Given the description of an element on the screen output the (x, y) to click on. 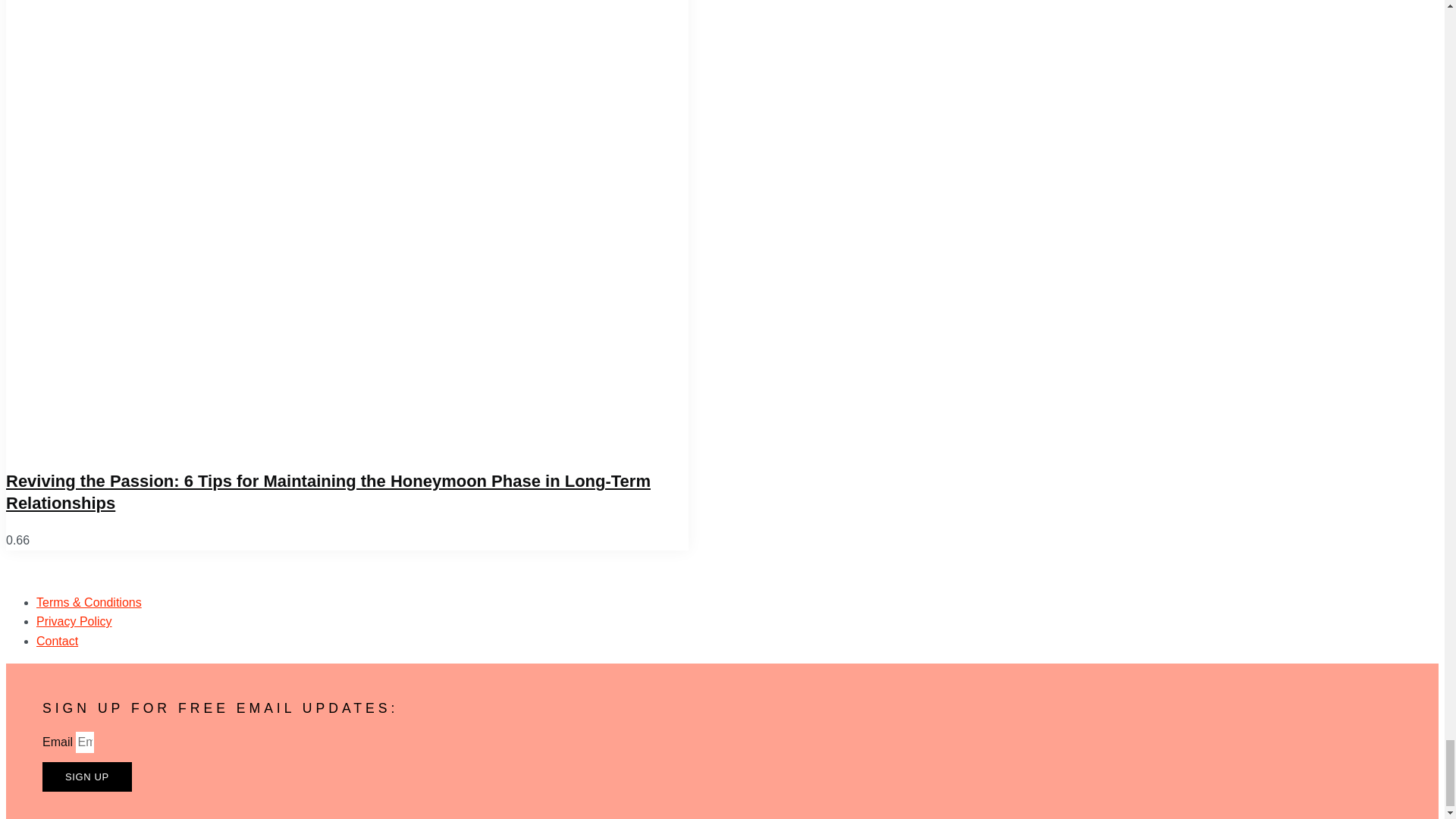
SIGN UP (87, 776)
Privacy Policy (74, 621)
Contact (57, 640)
